Given the description of an element on the screen output the (x, y) to click on. 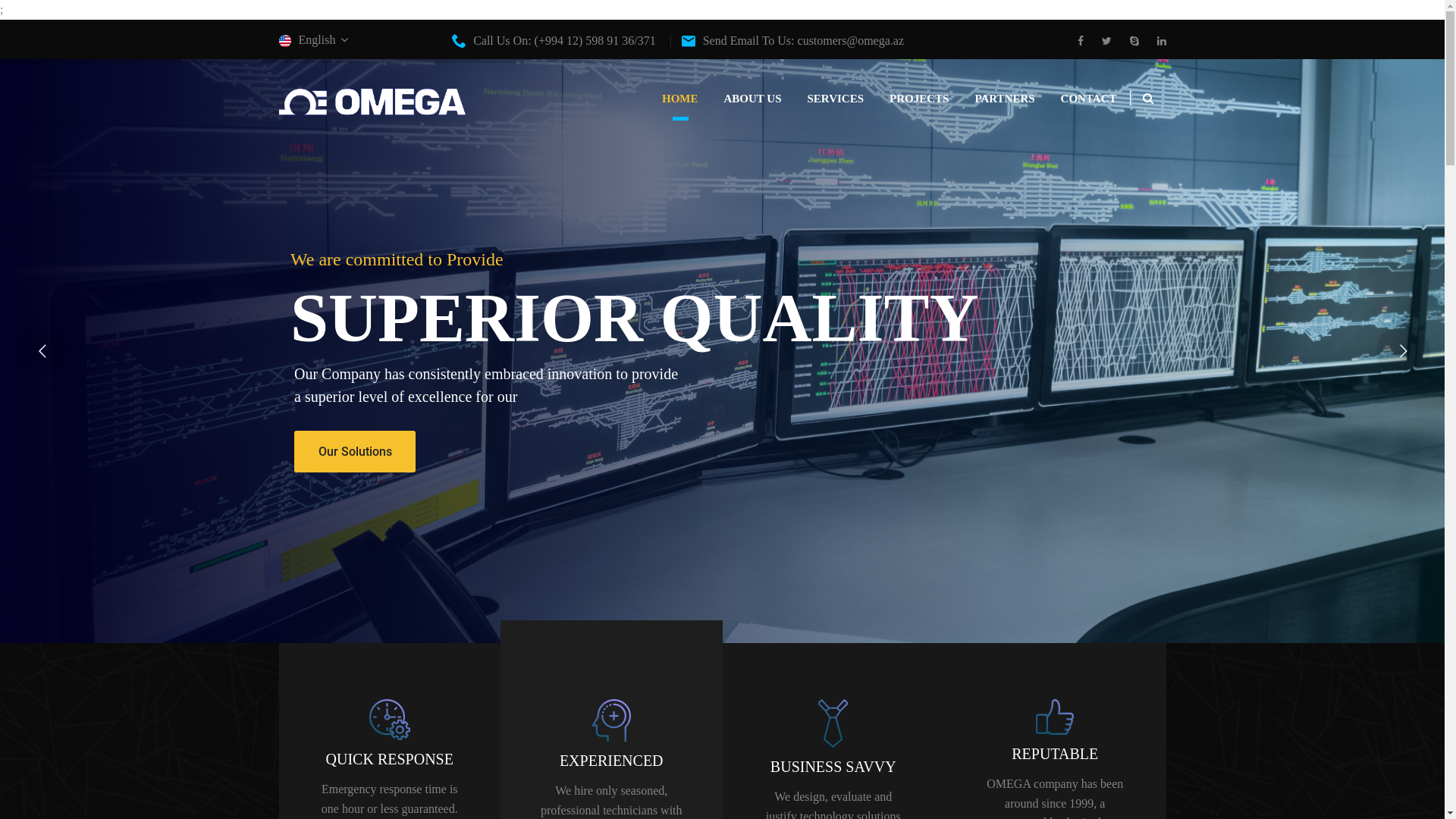
Automation Projects Element type: text (1058, 189)
Security Systems Partners Element type: text (1143, 229)
PARTNERS Element type: text (1004, 98)
Automation Partners Element type: text (1143, 189)
Security Systems Services Element type: text (976, 229)
Security Systems Projects Element type: text (1058, 229)
Our Solutions Element type: text (713, 466)
EXPERIENCED Element type: text (611, 760)
ABOUT US Element type: text (752, 98)
Linkedin Element type: hover (1157, 41)
Certificates Element type: text (892, 229)
SERVICES Element type: text (834, 98)
HOME Element type: text (680, 98)
QUICK RESPONSE Element type: text (389, 758)
All Services Element type: text (976, 149)
Gallery Element type: text (892, 269)
Search Element type: text (1147, 147)
All Partners Element type: text (1143, 149)
Facebook Element type: hover (1083, 41)
CONTACT Element type: text (1088, 98)
Skype Element type: hover (1134, 41)
Automation Services Element type: text (976, 189)
PROJECTS Element type: text (918, 98)
Twitter Element type: hover (1105, 41)
About Us Element type: text (892, 149)
BUSINESS SAVVY Element type: text (833, 766)
REPUTABLE Element type: text (1054, 753)
All Projects Element type: text (1058, 149)
Our Team Element type: text (892, 189)
